Given the description of an element on the screen output the (x, y) to click on. 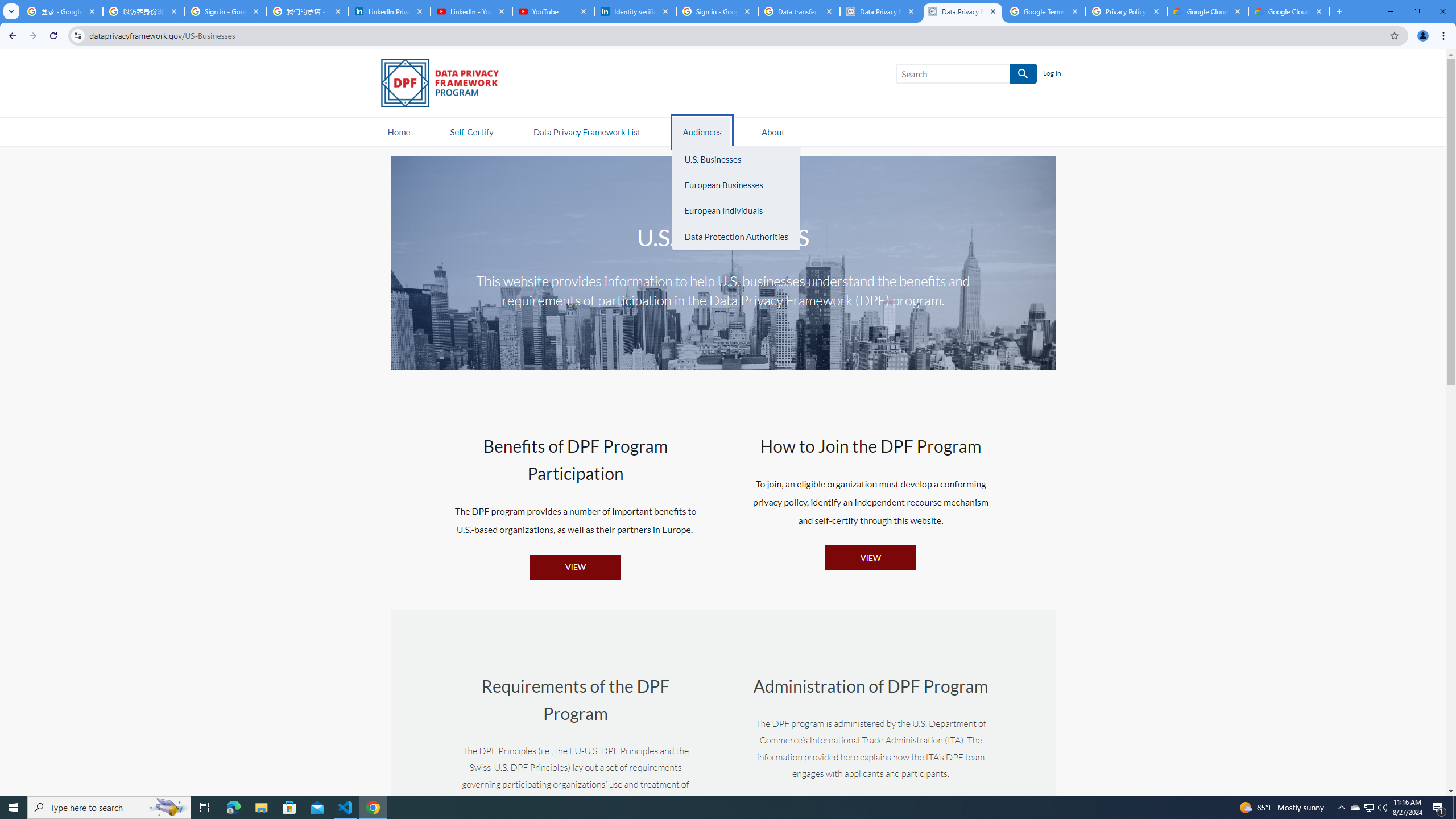
LinkedIn Privacy Policy (389, 11)
Google Cloud Privacy Notice (1207, 11)
Data Privacy Framework (880, 11)
Sign in - Google Accounts (716, 11)
SEARCH (1022, 73)
European Individuals (735, 211)
Audiences (702, 131)
Data Privacy Framework (963, 11)
